Given the description of an element on the screen output the (x, y) to click on. 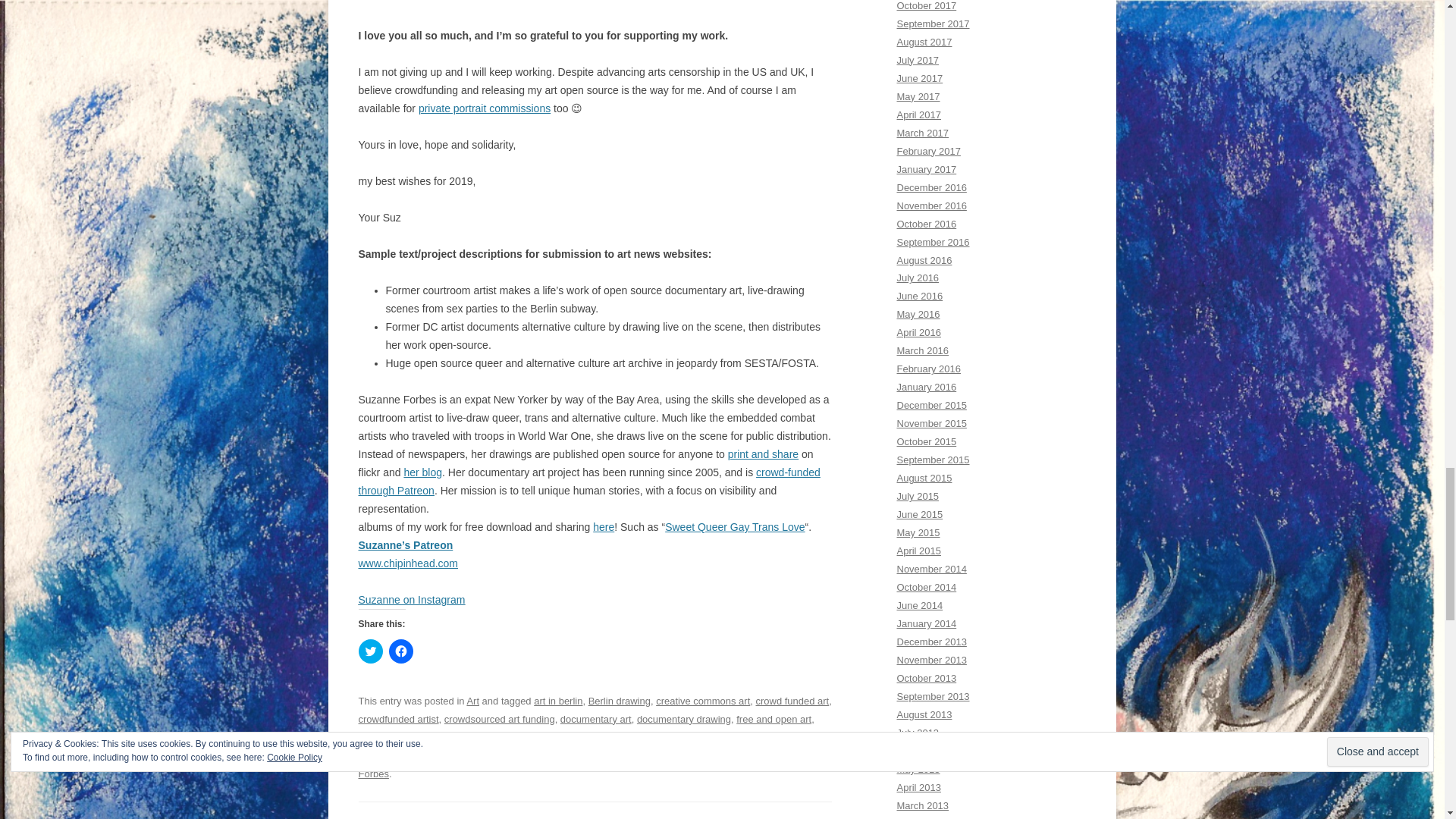
crowd-funded through Patreon (588, 481)
View all posts by Suzanne Forbes (593, 764)
Click to share on Facebook (400, 651)
www.chipinhead.com (408, 563)
1:57 am (738, 755)
her blog (422, 472)
private portrait commissions (484, 108)
Click to share on Twitter (369, 651)
print and share (762, 453)
Sweet Queer Gay Trans Love (735, 526)
